Given the description of an element on the screen output the (x, y) to click on. 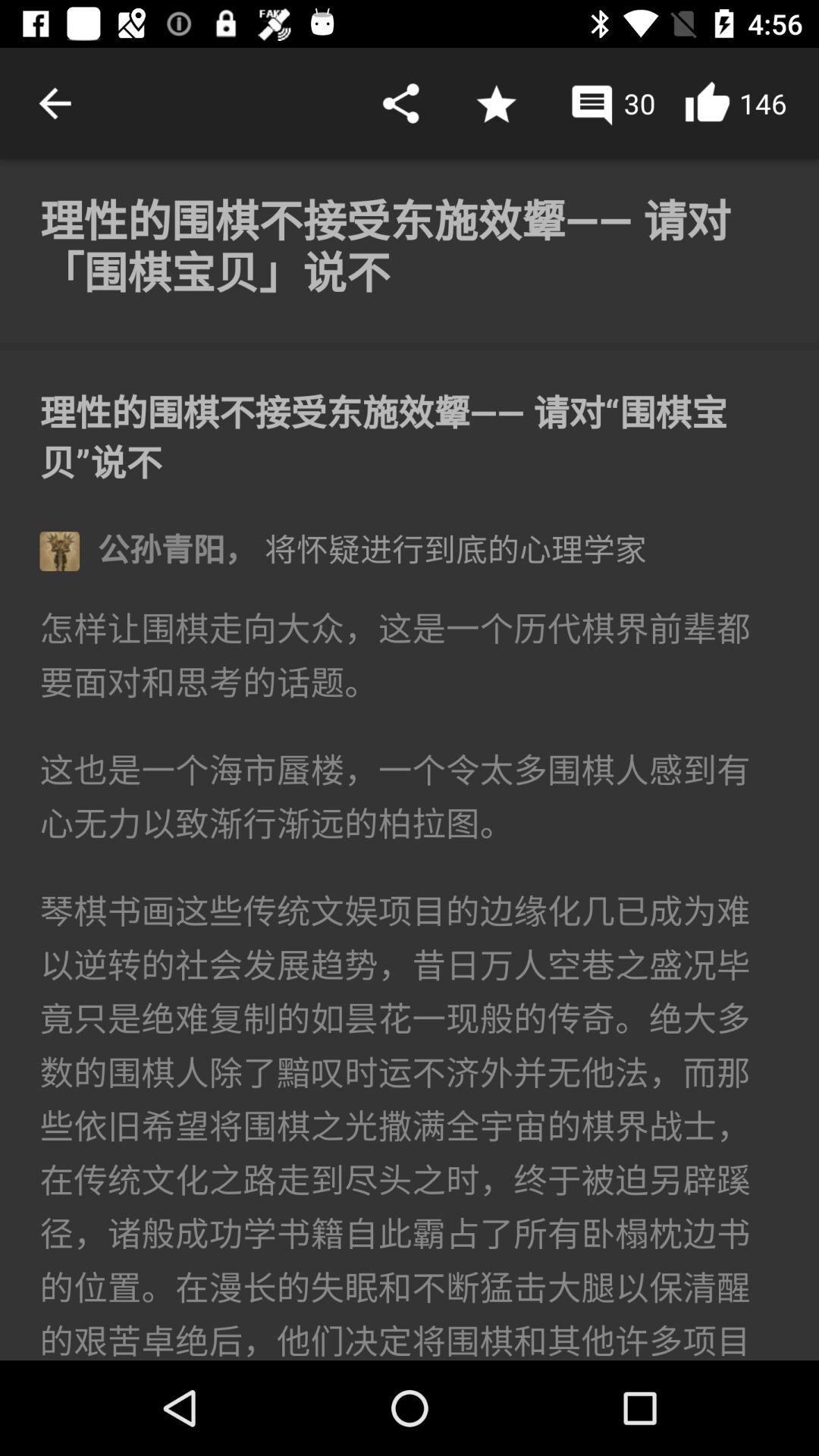
share option (400, 103)
